Given the description of an element on the screen output the (x, y) to click on. 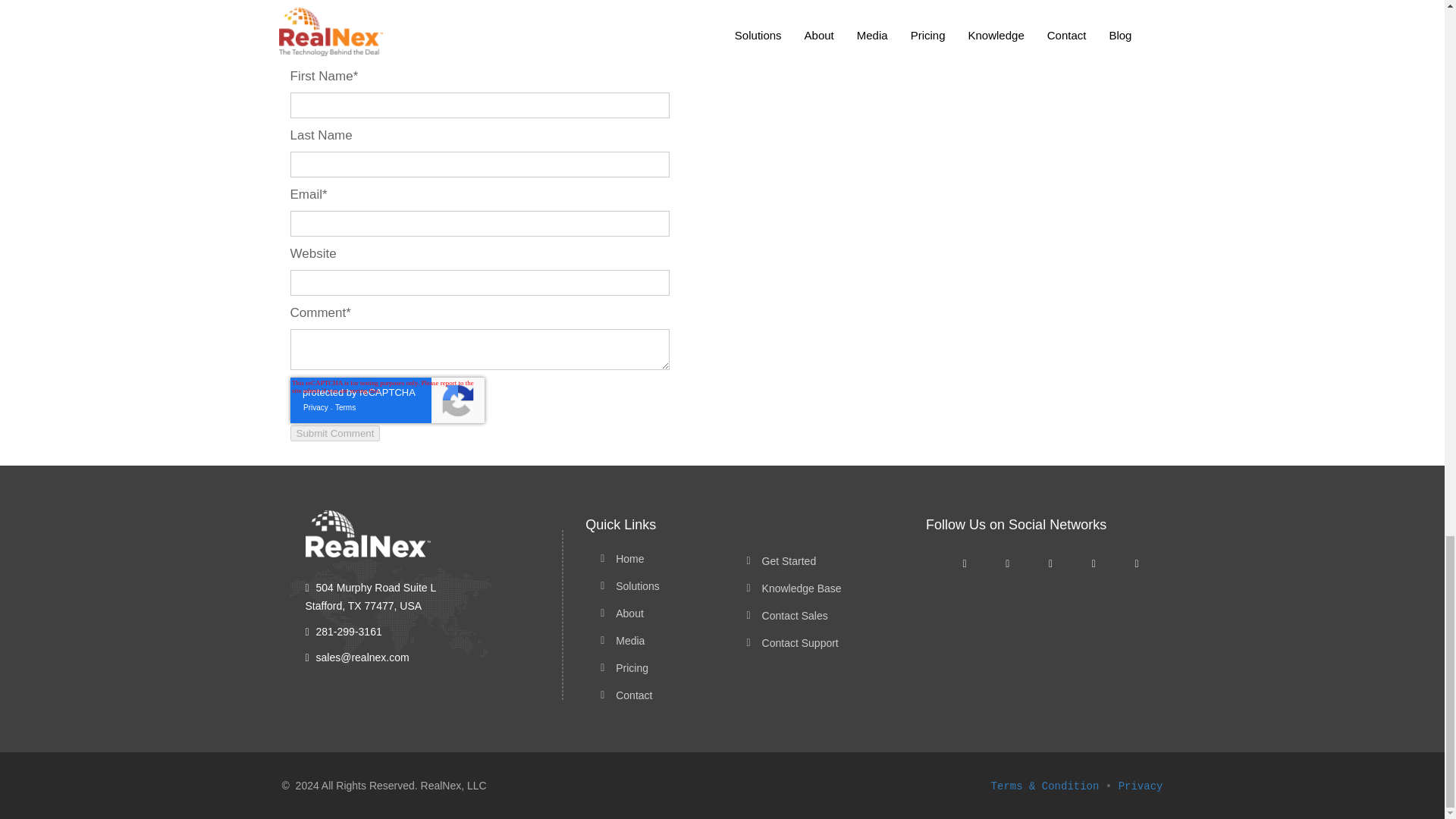
Submit Comment (334, 433)
email (385, 2)
ESG (483, 2)
sustainability (667, 2)
carbonneutral (544, 2)
LEED (607, 2)
CRM (347, 2)
cleantech (435, 2)
reCAPTCHA (386, 400)
Submit Comment (334, 433)
